Given the description of an element on the screen output the (x, y) to click on. 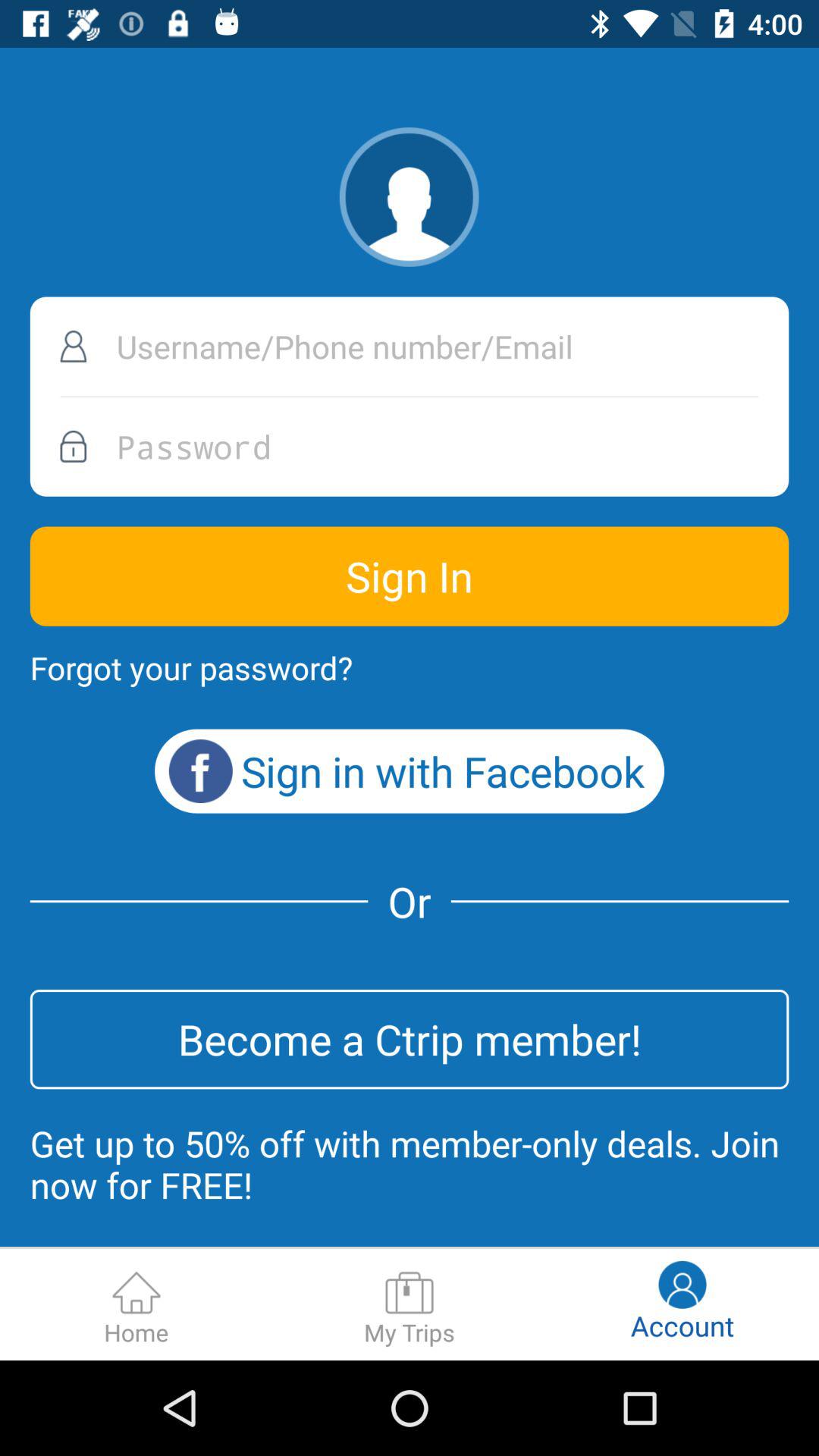
turn on icon below or (409, 1039)
